Given the description of an element on the screen output the (x, y) to click on. 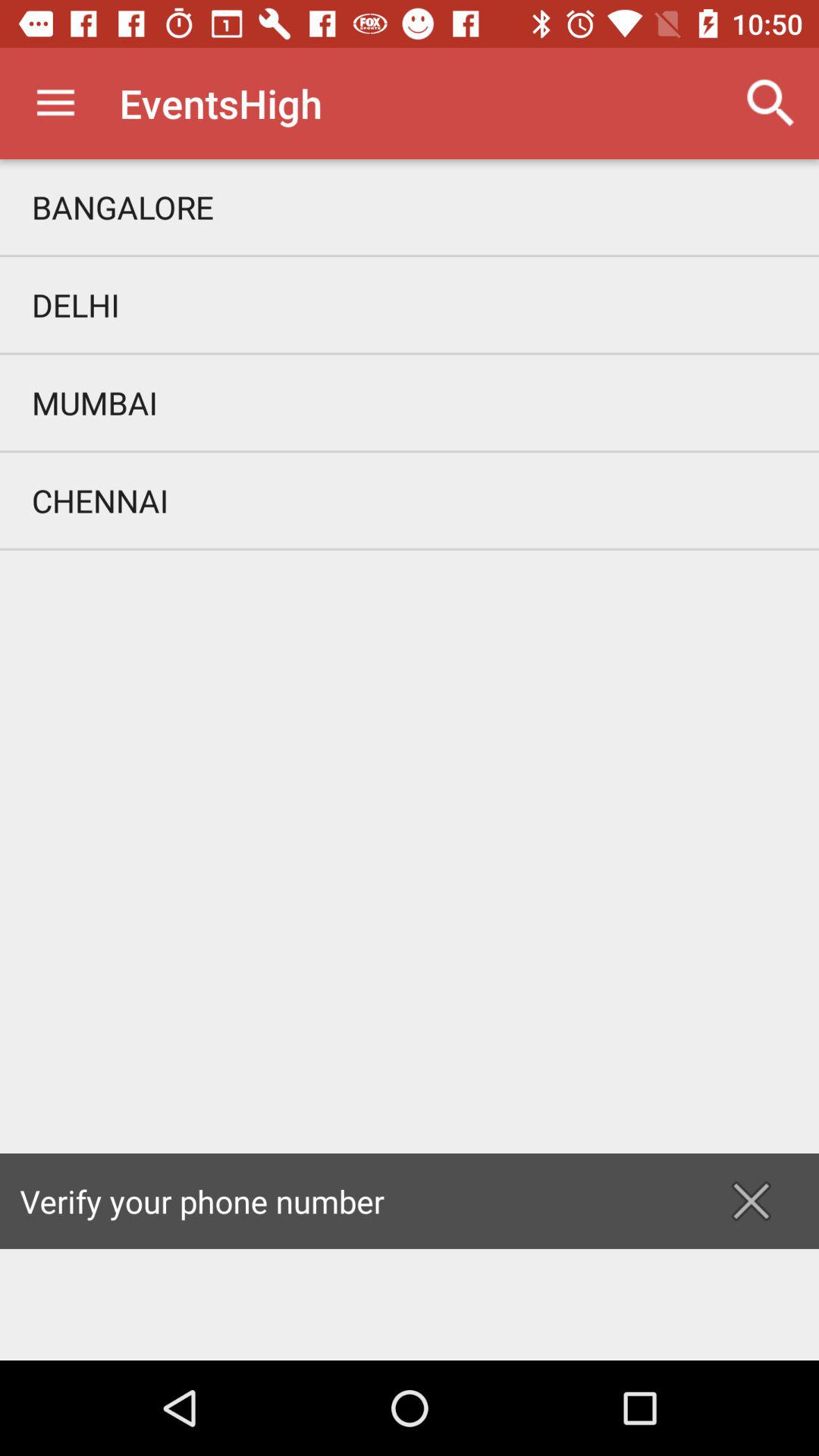
choose icon to the right of the eventshigh app (771, 103)
